Given the description of an element on the screen output the (x, y) to click on. 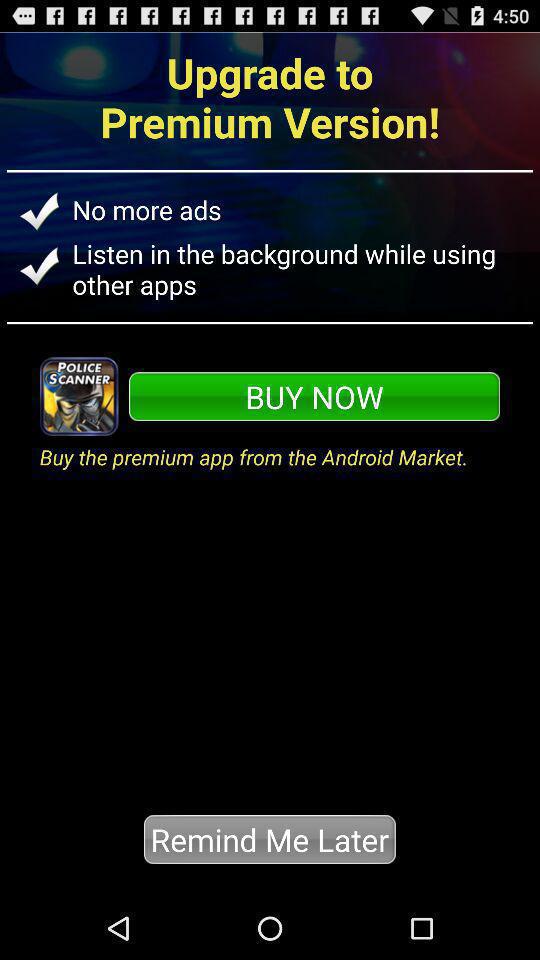
tap app above buy the premium (314, 396)
